Given the description of an element on the screen output the (x, y) to click on. 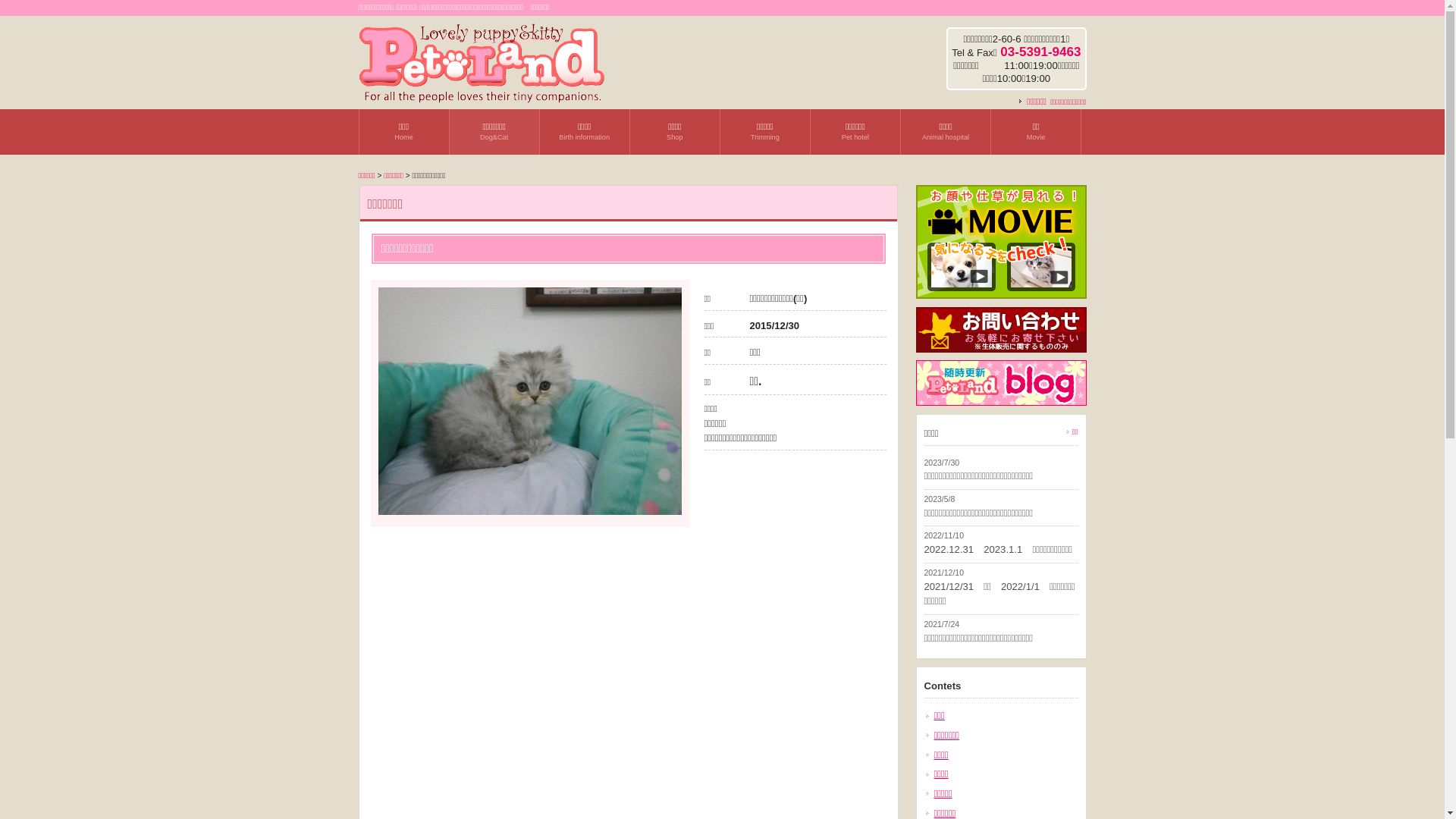
OLYMPUS DIGITAL CAMERA Element type: hover (528, 400)
OLYMPUS DIGITAL CAMERA Element type: hover (528, 511)
